Given the description of an element on the screen output the (x, y) to click on. 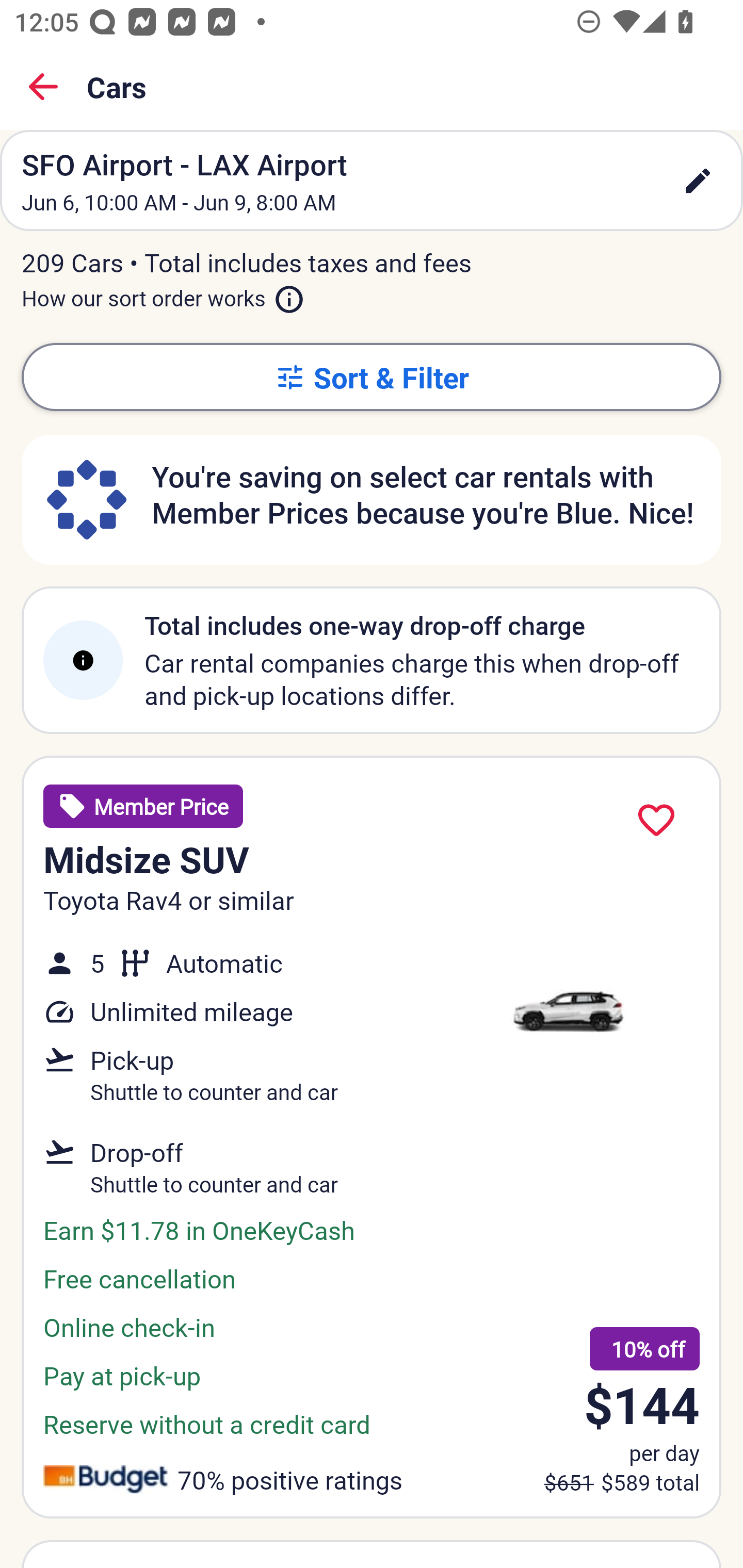
Back (43, 86)
edit (697, 180)
How our sort order works (163, 294)
Sort & Filter (371, 376)
